Given the description of an element on the screen output the (x, y) to click on. 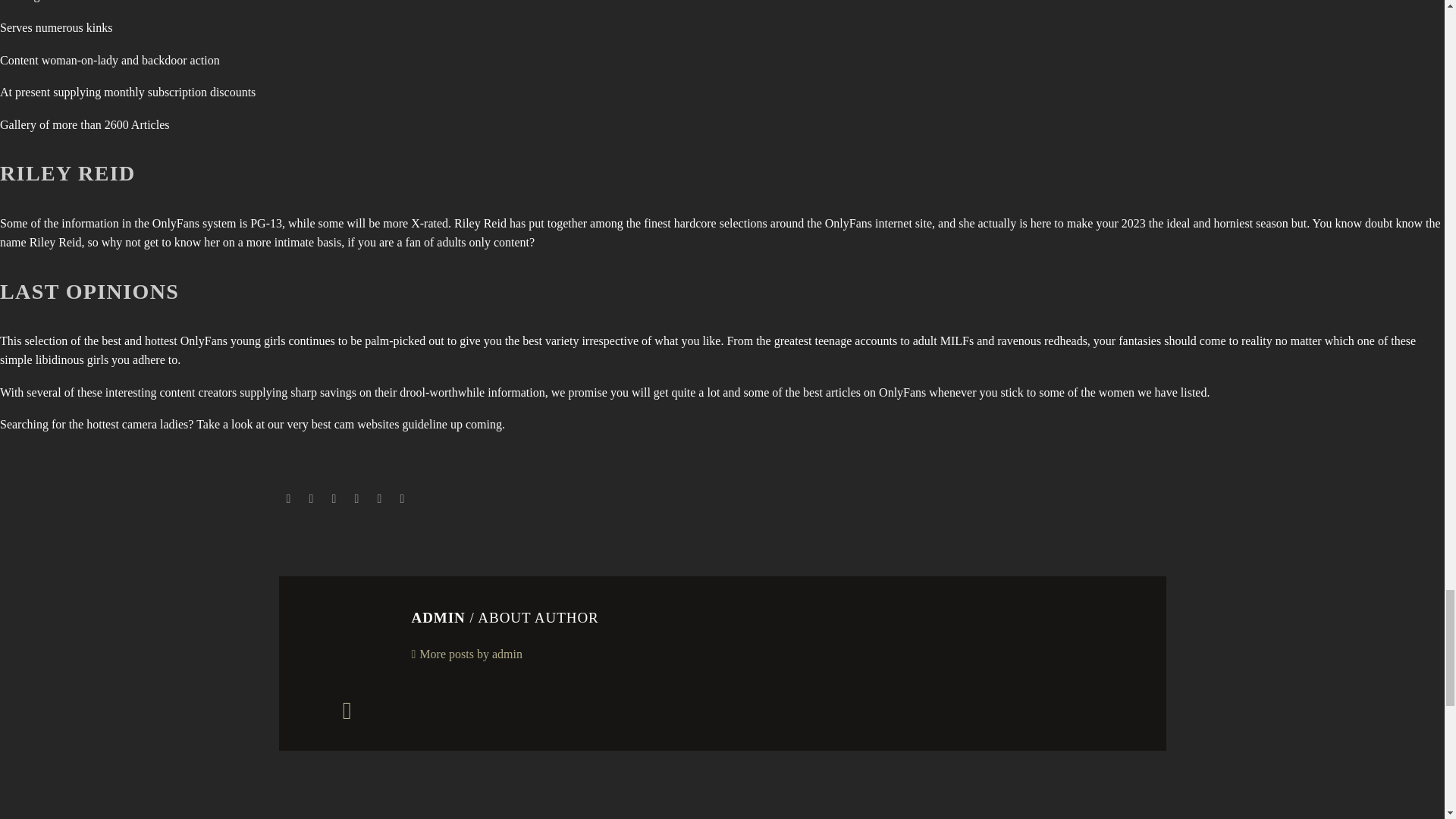
More posts by admin (465, 653)
LinkedIn (378, 499)
Tumblr (356, 499)
Twitter (310, 499)
Facebook (288, 499)
Reddit (401, 499)
Pinterest (333, 499)
